Given the description of an element on the screen output the (x, y) to click on. 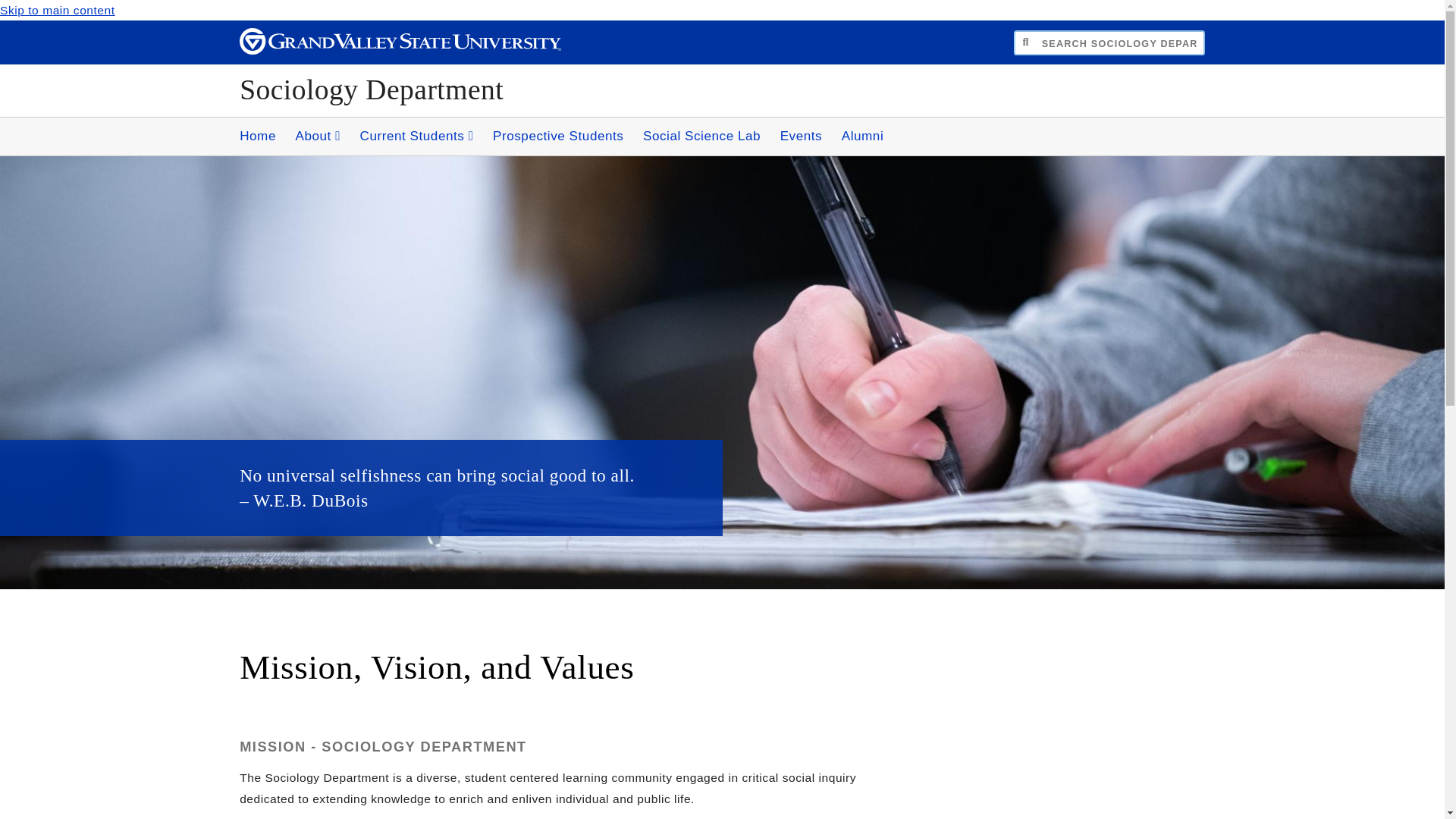
Prospective Students (557, 136)
Events (801, 136)
Skip to main content (57, 10)
Social Science Lab (701, 136)
Home (257, 136)
About (316, 136)
Alumni (862, 136)
Current Students (416, 136)
Sociology Department (371, 89)
